Given the description of an element on the screen output the (x, y) to click on. 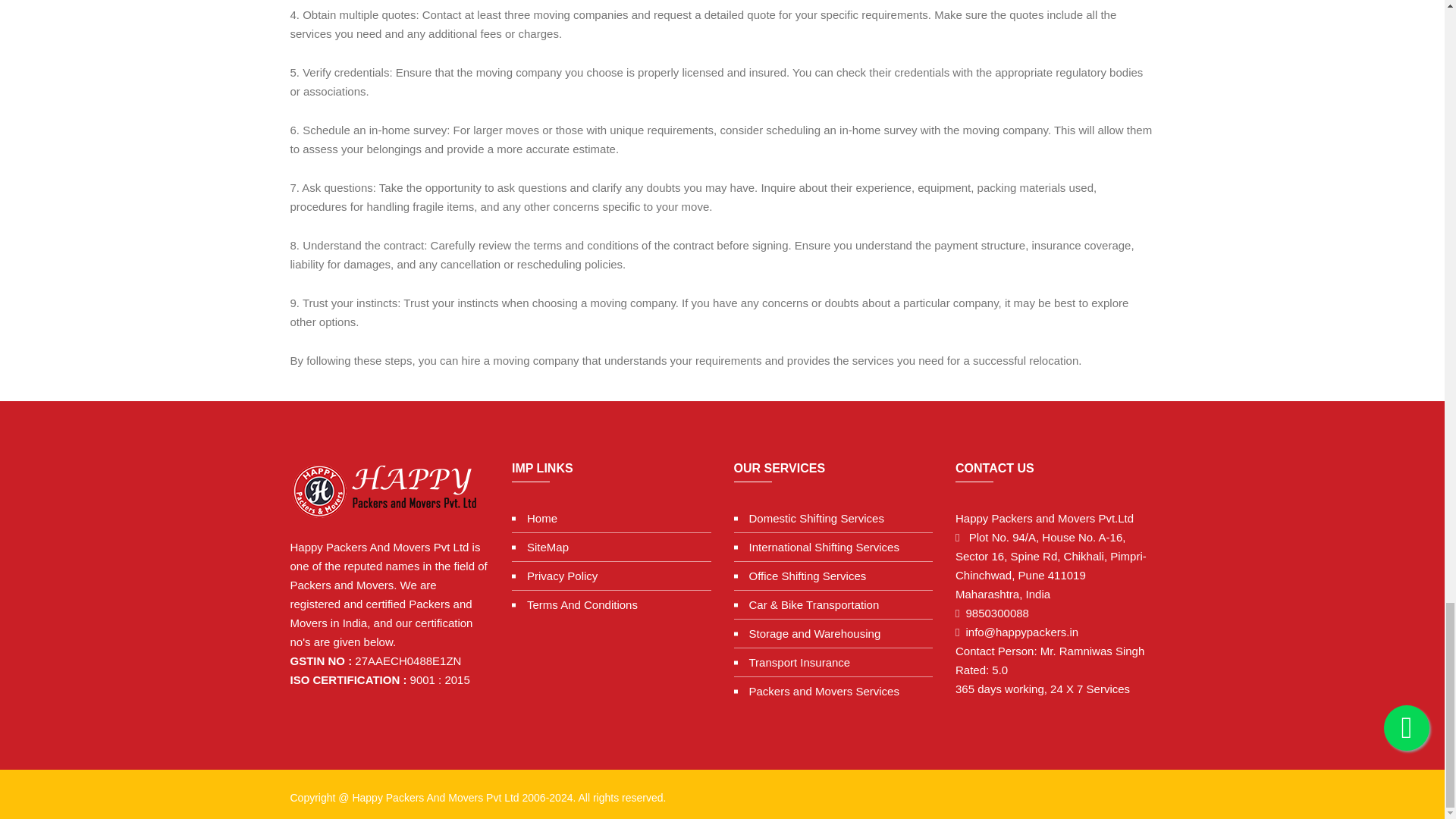
Home (534, 517)
SiteMap (540, 546)
Terms And Conditions (574, 604)
Privacy Policy (554, 575)
